Given the description of an element on the screen output the (x, y) to click on. 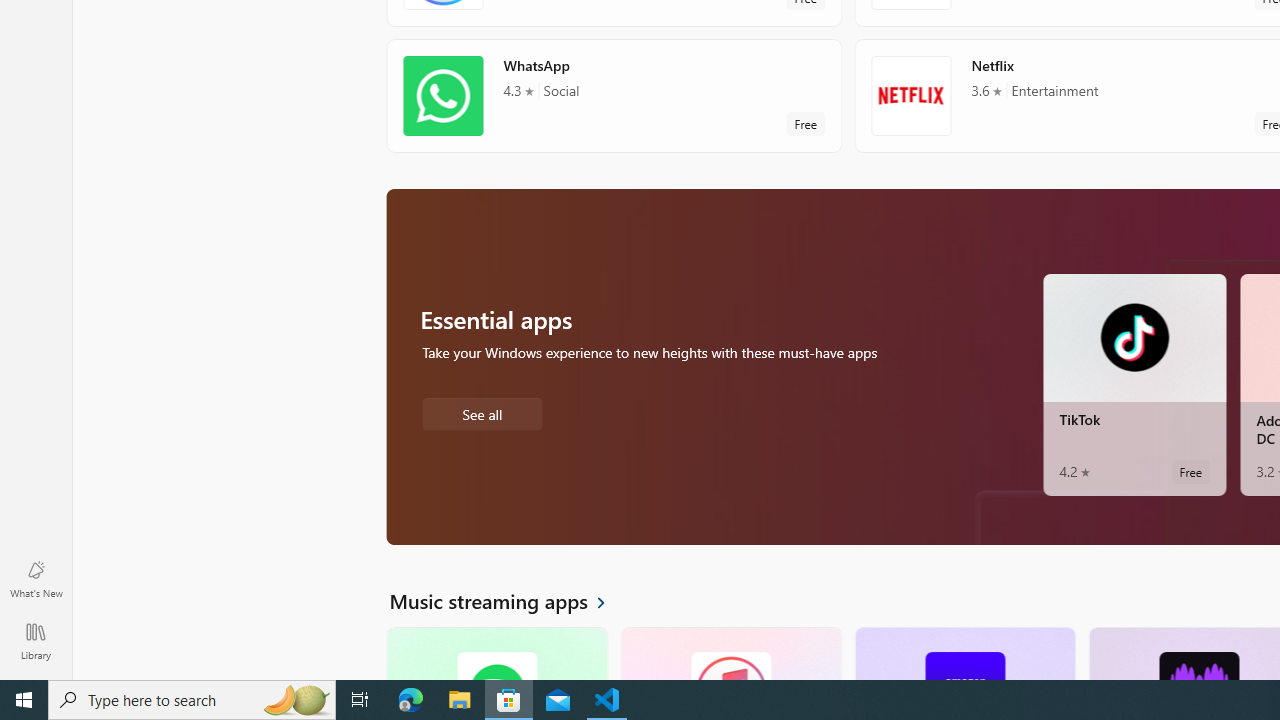
iTunes. Average rating of 2.5 out of five stars. Free   (730, 653)
See all  Essential apps (481, 412)
See all  Music streaming apps (509, 600)
Library (35, 640)
WhatsApp. Average rating of 4.3 out of five stars. Free   (614, 95)
What's New (35, 578)
TikTok. Average rating of 4.2 out of five stars. Free   (1134, 384)
